Given the description of an element on the screen output the (x, y) to click on. 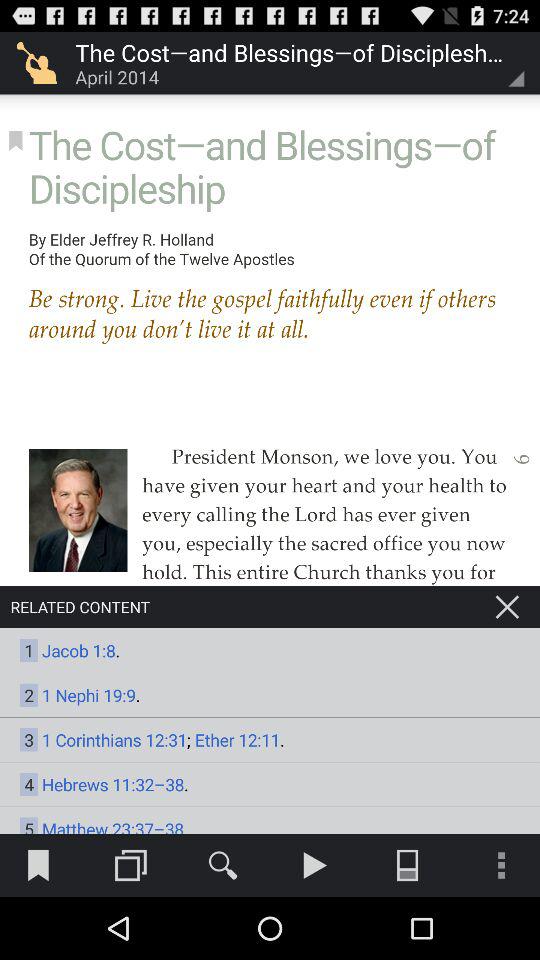
close the option (507, 607)
